Given the description of an element on the screen output the (x, y) to click on. 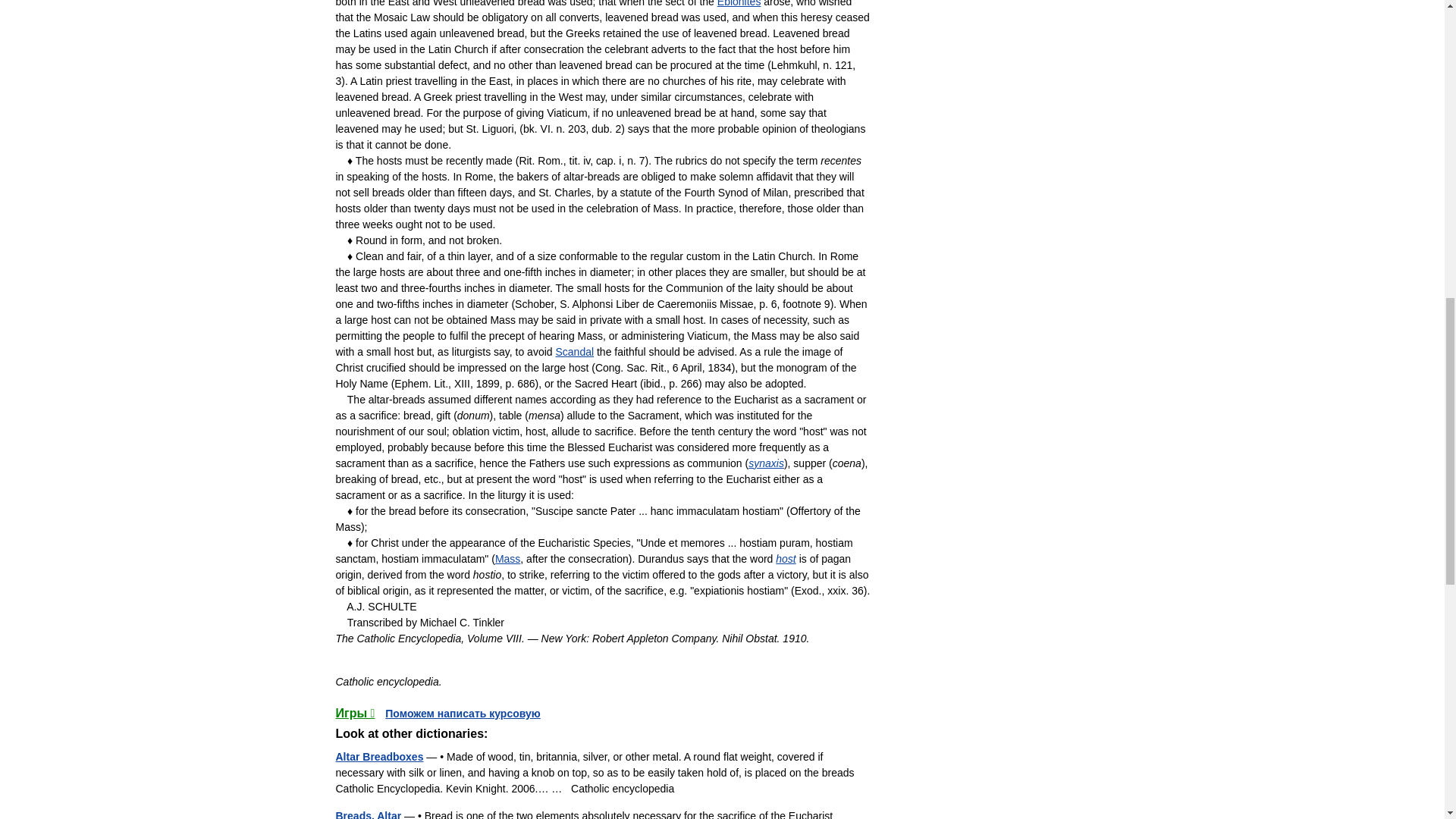
Altar Breadboxes (378, 756)
Breads, Altar (367, 814)
Scandal (574, 351)
Ebionites (739, 3)
synaxis (766, 463)
Mass (507, 558)
host (785, 558)
